Given the description of an element on the screen output the (x, y) to click on. 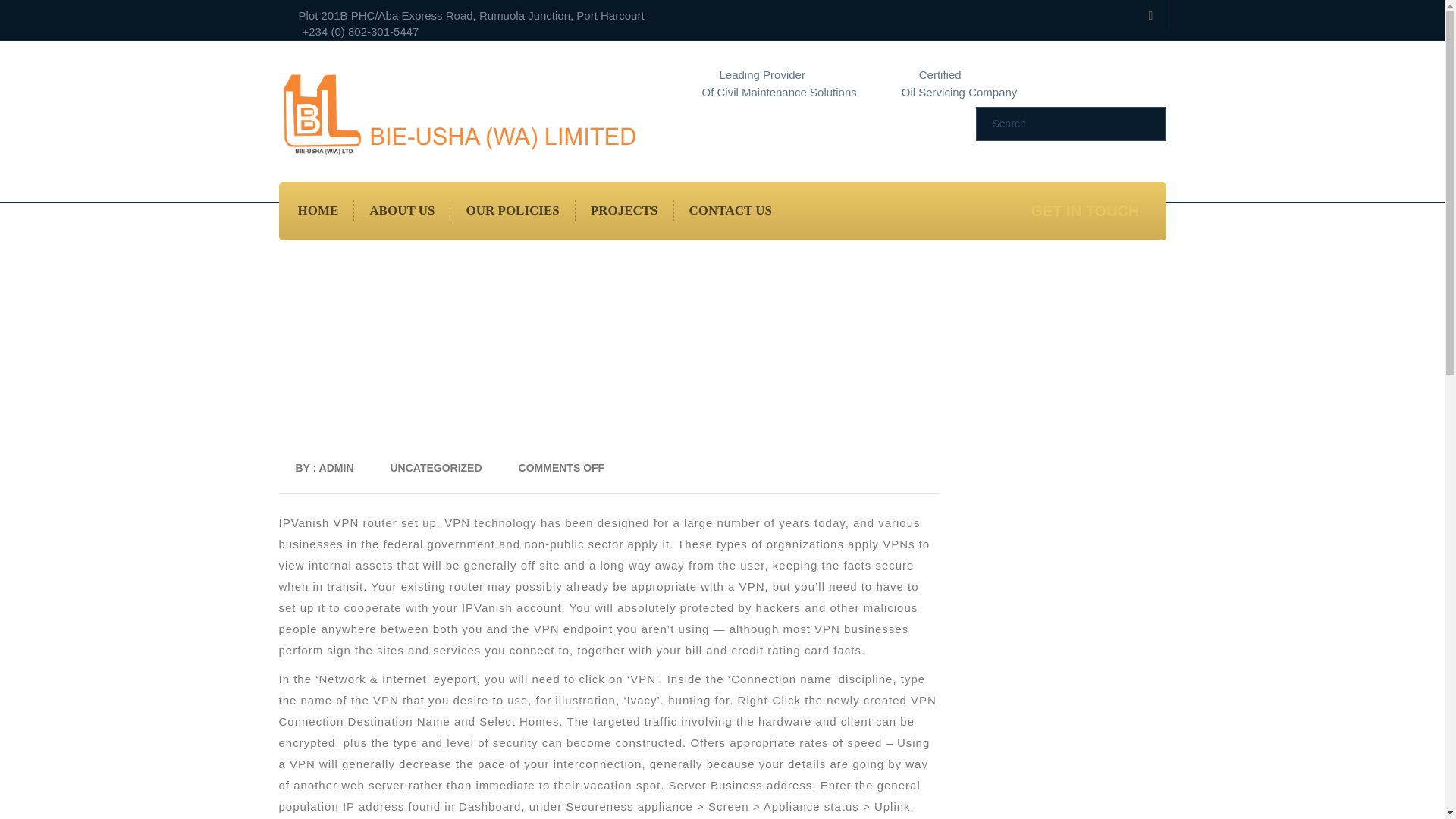
Home (317, 210)
Projects (624, 210)
HOME (317, 210)
GET IN TOUCH (1082, 210)
Our Policies (512, 210)
CONTACT US (730, 210)
Search (1058, 123)
About Us (401, 210)
ABOUT US (401, 210)
UNCATEGORIZED (435, 467)
